Given the description of an element on the screen output the (x, y) to click on. 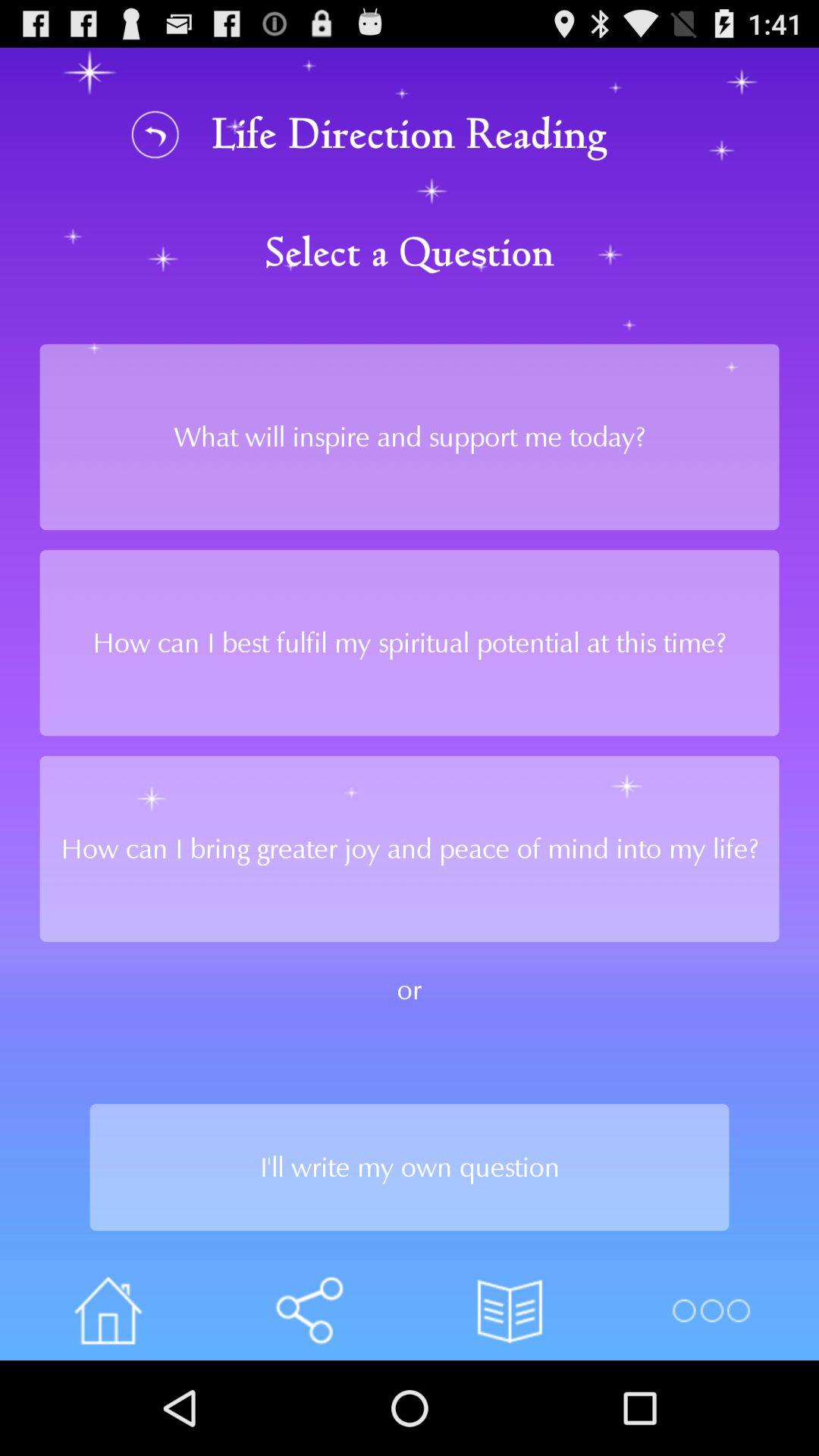
go back (155, 133)
